Given the description of an element on the screen output the (x, y) to click on. 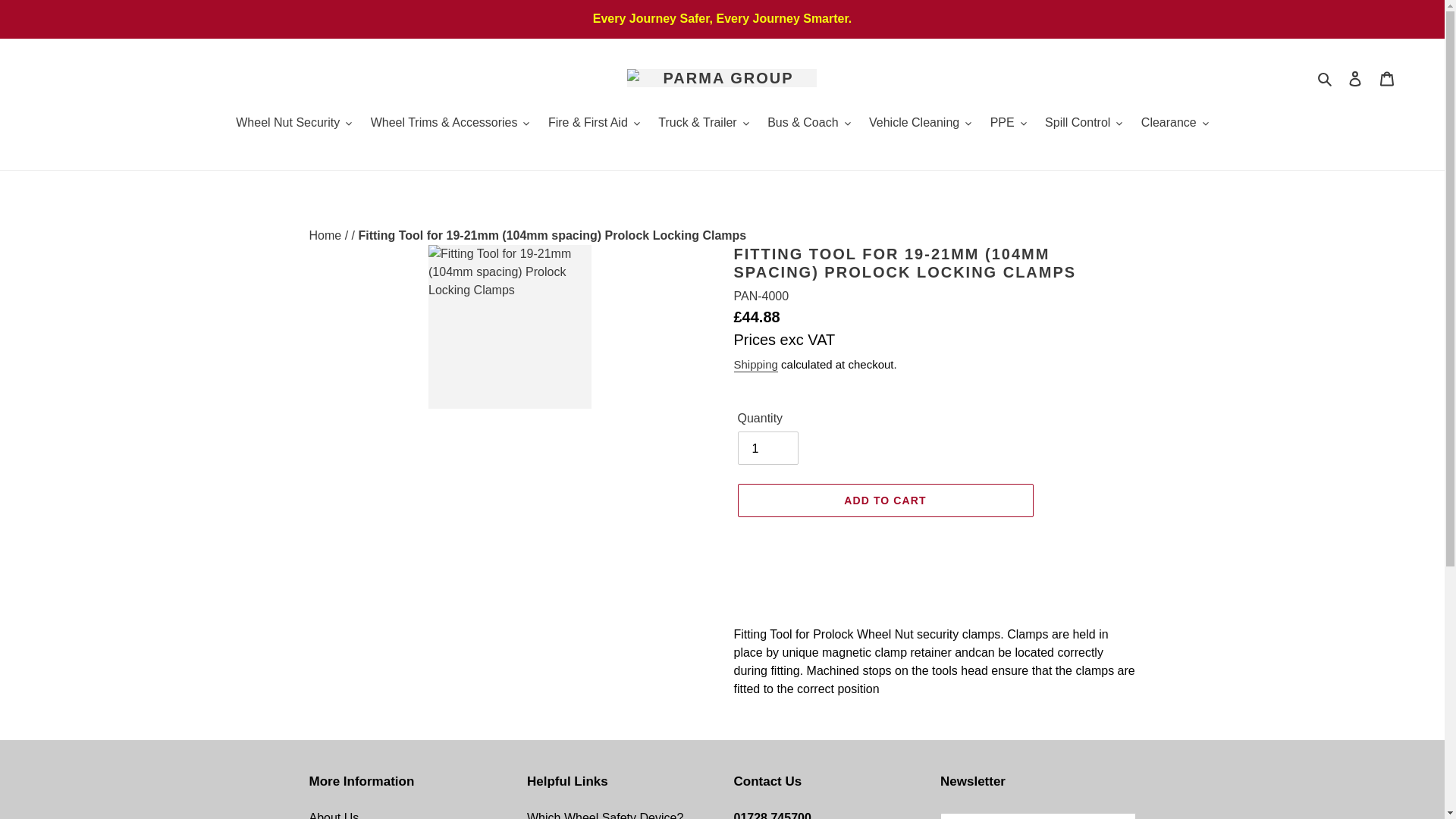
Log in (1355, 78)
1 (766, 448)
Cart (1387, 78)
Search (1326, 77)
